Given the description of an element on the screen output the (x, y) to click on. 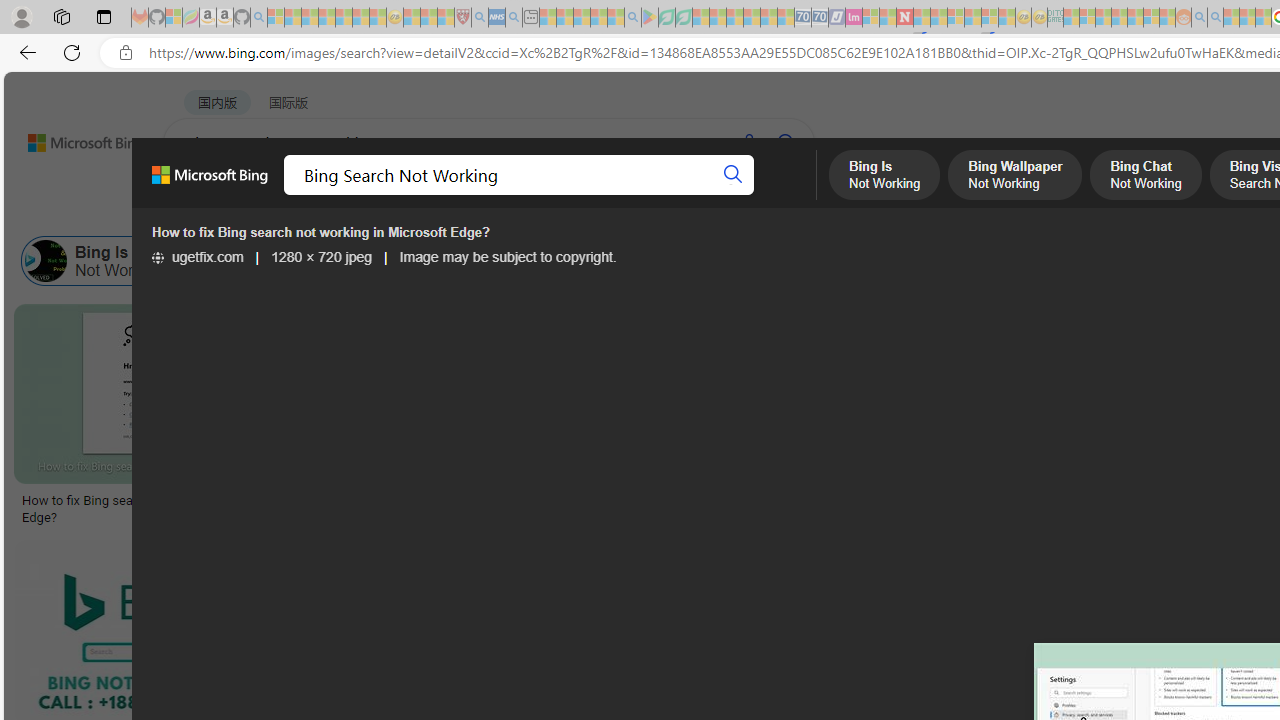
The Weather Channel - MSN - Sleeping (309, 17)
IMAGES (360, 195)
Bing Is Not Working (45, 260)
ugetfix.com (197, 257)
utah sues federal government - Search - Sleeping (513, 17)
Bing Wallpaper Not Working (286, 260)
VIDEOS (545, 195)
Pets - MSN - Sleeping (598, 17)
Dropdown Menu (793, 195)
